Given the description of an element on the screen output the (x, y) to click on. 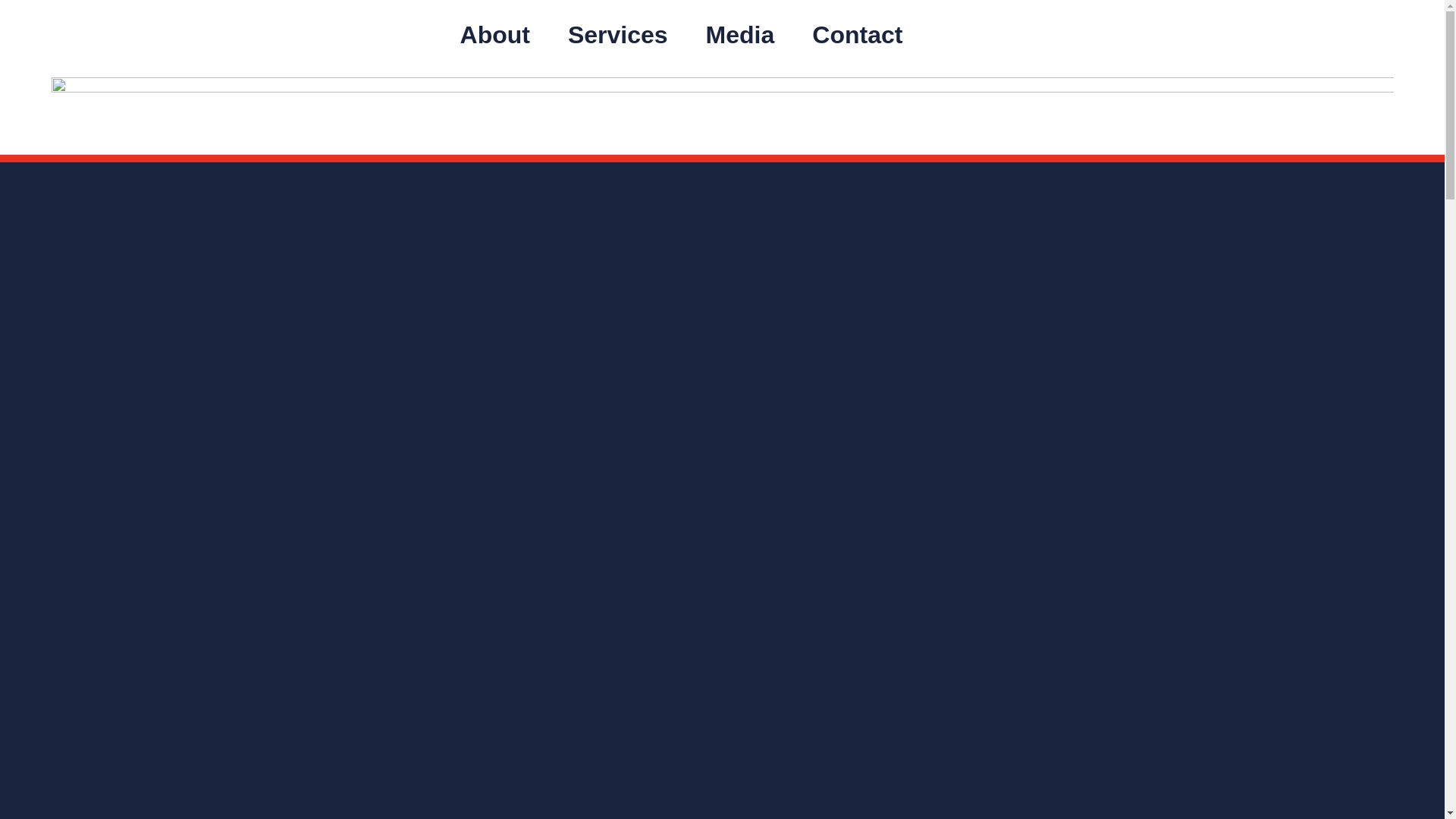
Services (617, 34)
Contact (856, 34)
About (494, 34)
Media (740, 34)
